Given the description of an element on the screen output the (x, y) to click on. 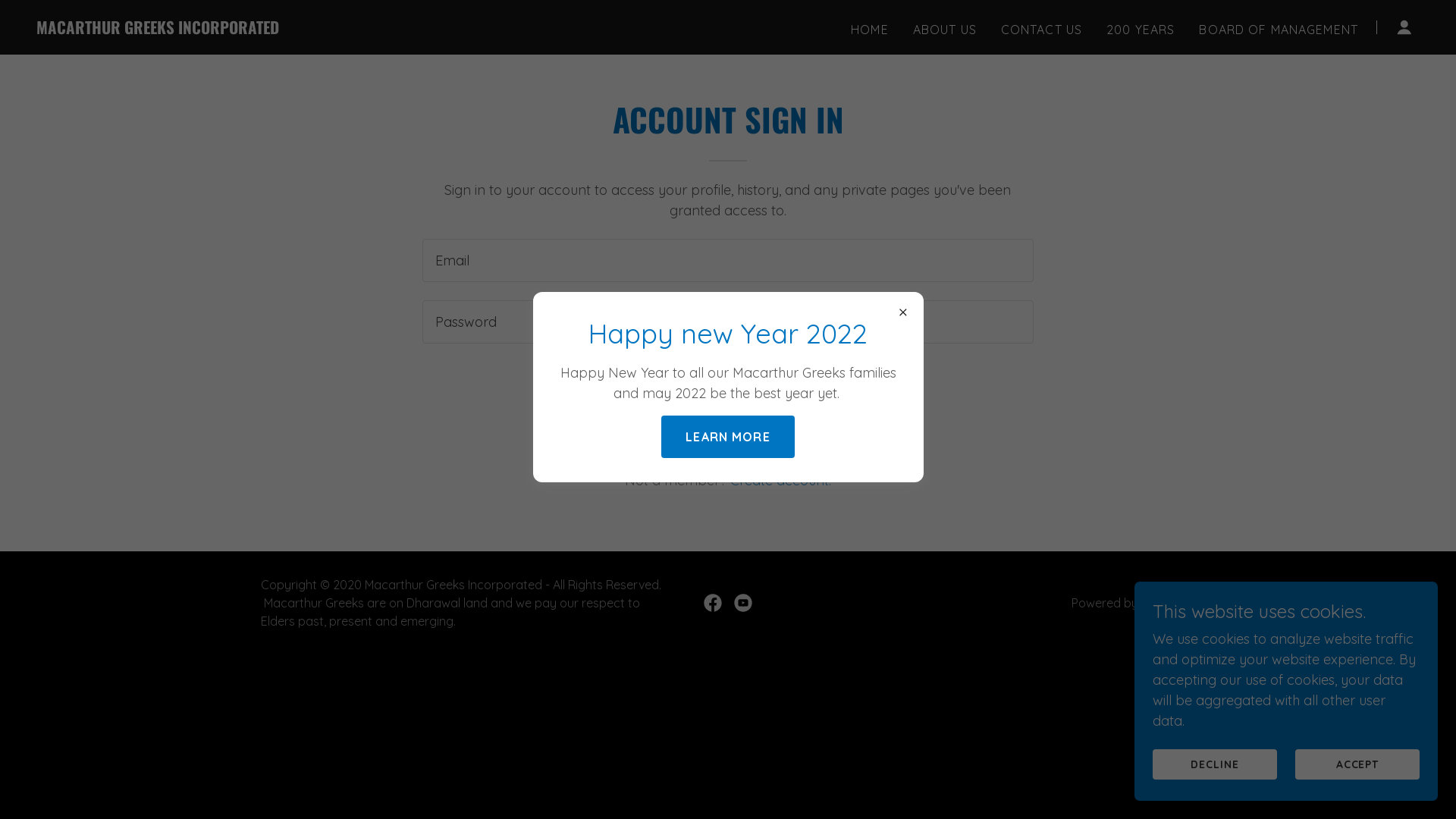
ABOUT US Element type: text (944, 28)
ACCEPT Element type: text (1357, 764)
HOME Element type: text (869, 28)
Create account. Element type: text (780, 480)
DECLINE Element type: text (1214, 764)
LEARN MORE Element type: text (727, 436)
Reset password Element type: text (727, 430)
SIGN IN Element type: text (727, 382)
BOARD OF MANAGEMENT Element type: text (1278, 28)
200 YEARS Element type: text (1140, 28)
CONTACT US Element type: text (1041, 28)
GoDaddy Element type: text (1168, 602)
MACARTHUR GREEKS INCORPORATED Element type: text (157, 28)
